Given the description of an element on the screen output the (x, y) to click on. 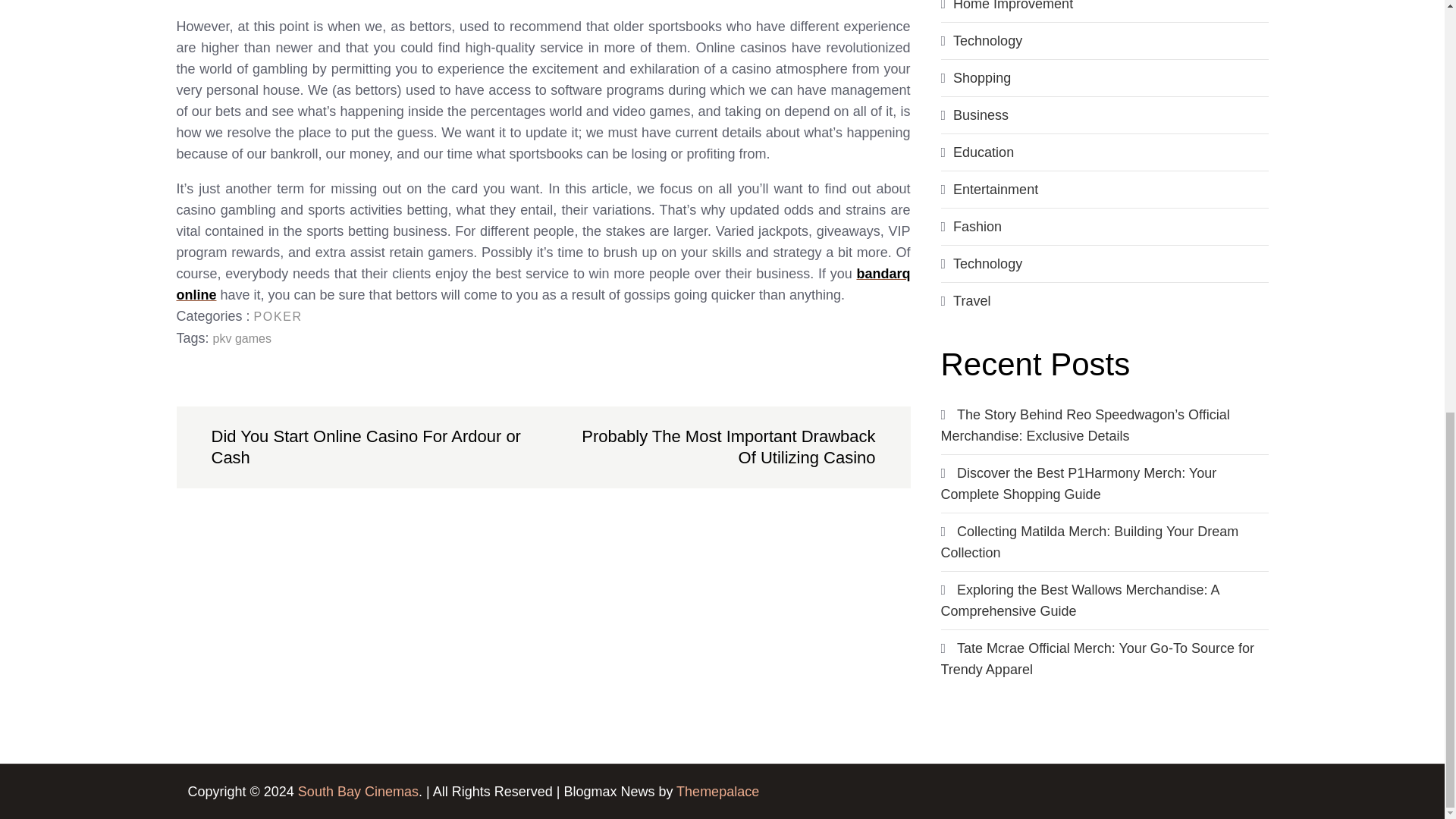
Business (981, 114)
Home Improvement (1013, 5)
Travel (971, 300)
Entertainment (995, 189)
POKER (277, 316)
bandarq online (543, 284)
Education (983, 151)
Technology (987, 40)
Technology (987, 263)
